Given the description of an element on the screen output the (x, y) to click on. 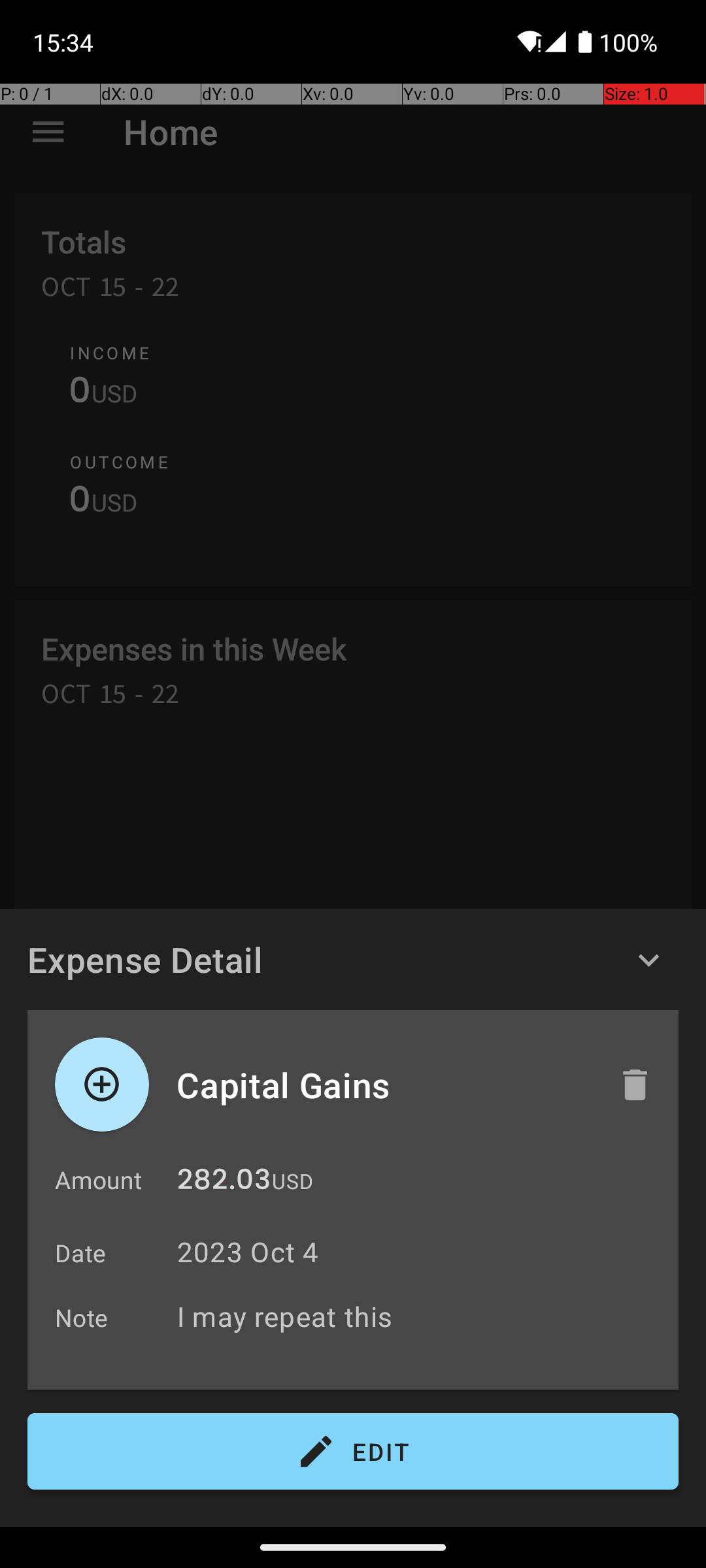
Capital Gains Element type: android.widget.TextView (383, 1084)
282.03 Element type: android.widget.TextView (223, 1182)
2023 Oct 4 Element type: android.widget.TextView (247, 1251)
